Given the description of an element on the screen output the (x, y) to click on. 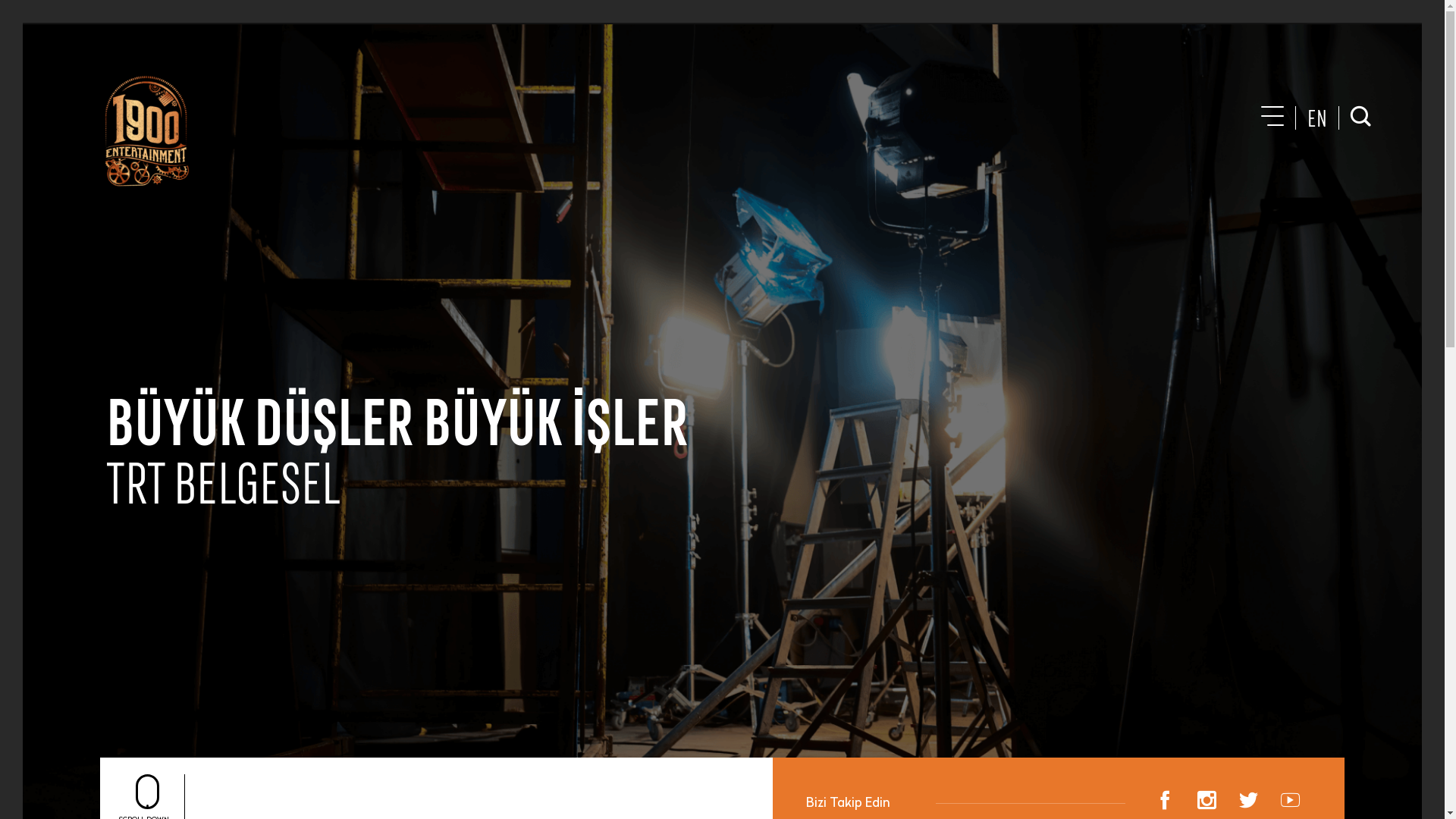
1900 Entertainment Element type: hover (144, 130)
twitter Element type: hover (1248, 802)
EN Element type: text (1317, 117)
Instagram Element type: hover (1206, 802)
Youtube Element type: hover (1289, 802)
Facebook Element type: hover (1164, 802)
